Given the description of an element on the screen output the (x, y) to click on. 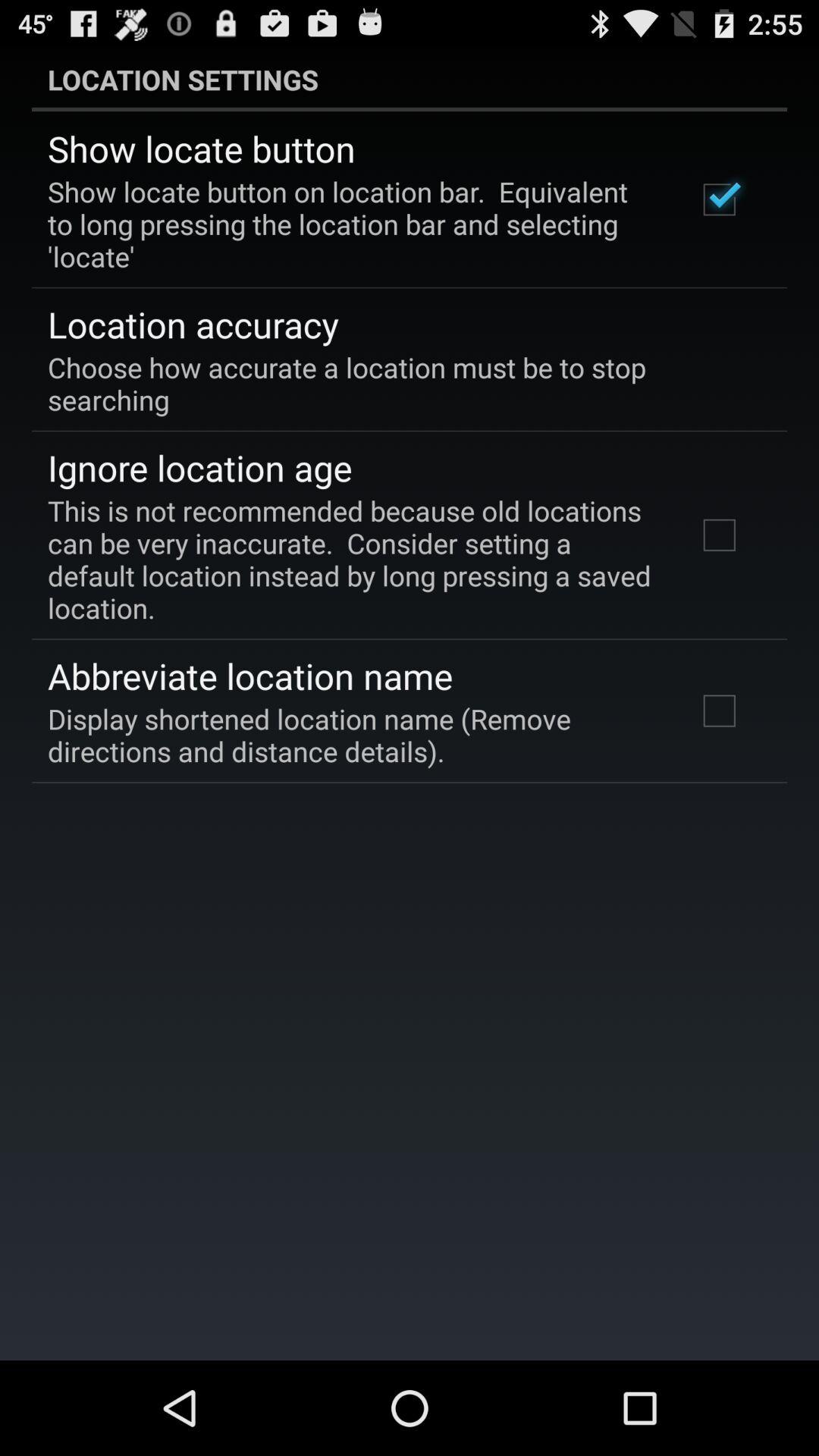
turn off item above the choose how accurate icon (192, 324)
